Given the description of an element on the screen output the (x, y) to click on. 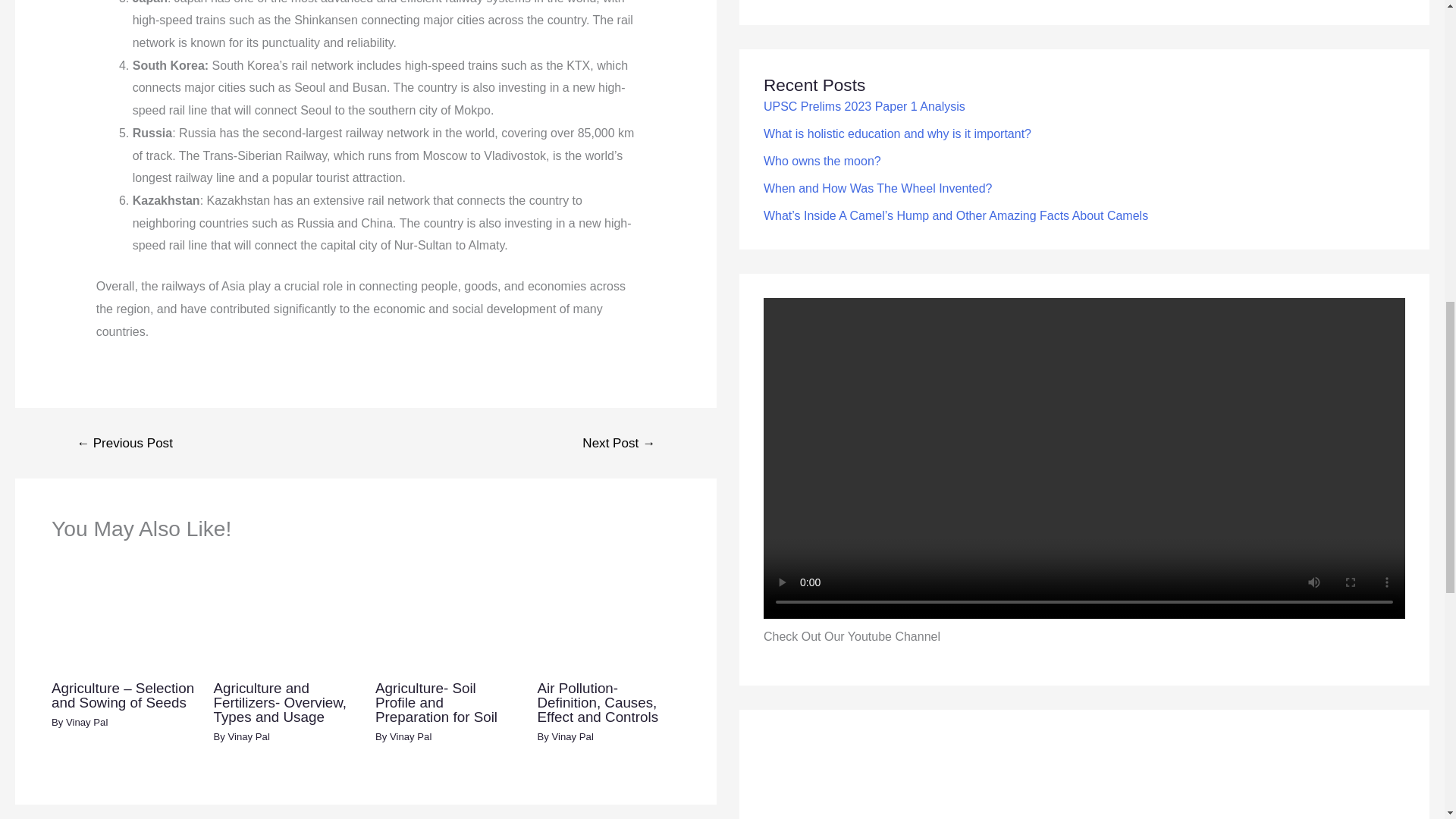
View all posts by Vinay Pal (410, 736)
View all posts by Vinay Pal (86, 722)
View all posts by Vinay Pal (248, 736)
View all posts by Vinay Pal (571, 736)
